Given the description of an element on the screen output the (x, y) to click on. 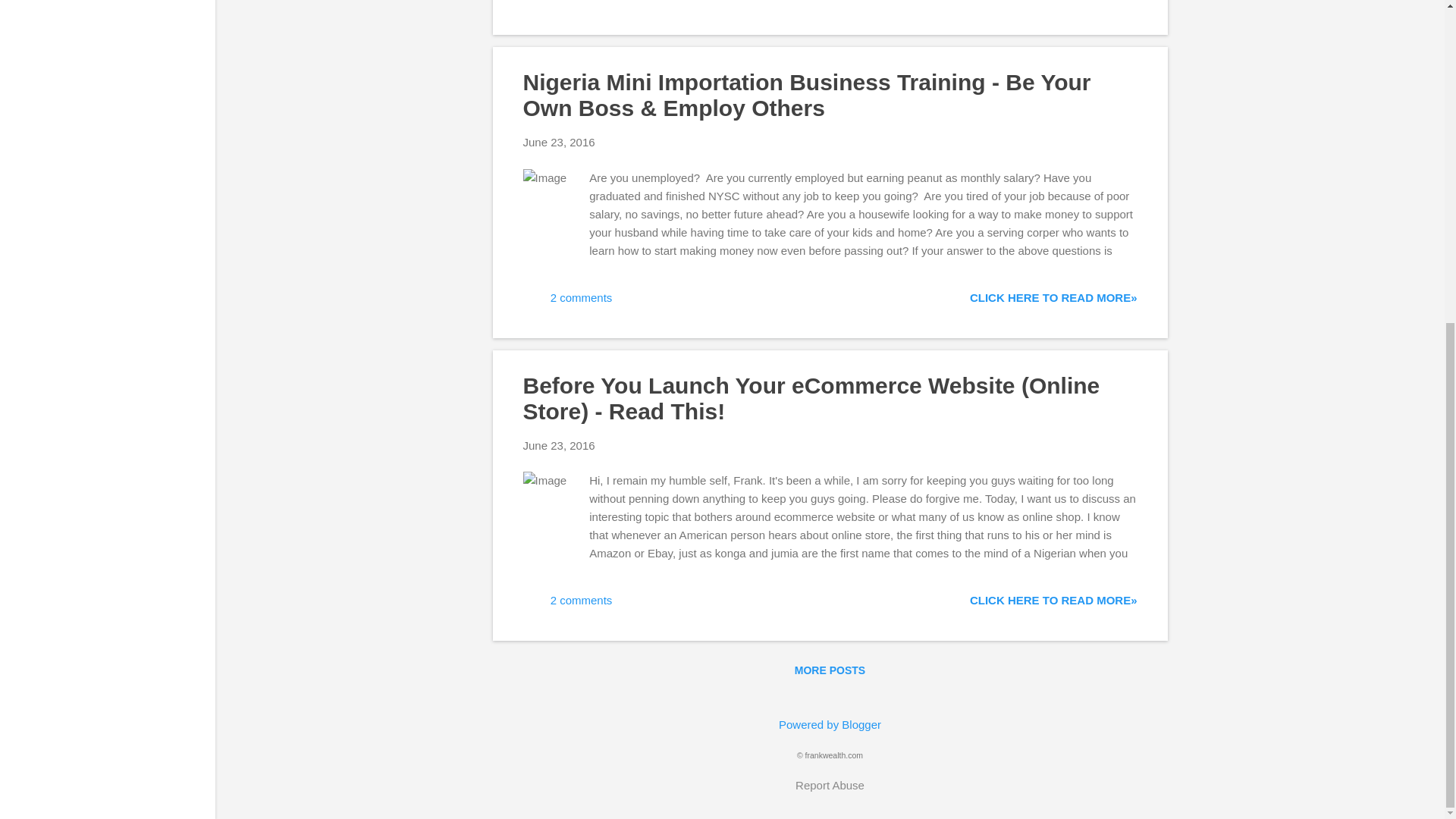
Post a Comment (578, 3)
June 23, 2016 (558, 444)
Report Abuse (829, 785)
2 comments (567, 302)
MORE POSTS (829, 670)
2 comments (567, 604)
permanent link (558, 141)
June 23, 2016 (558, 141)
Powered by Blogger (829, 724)
